Given the description of an element on the screen output the (x, y) to click on. 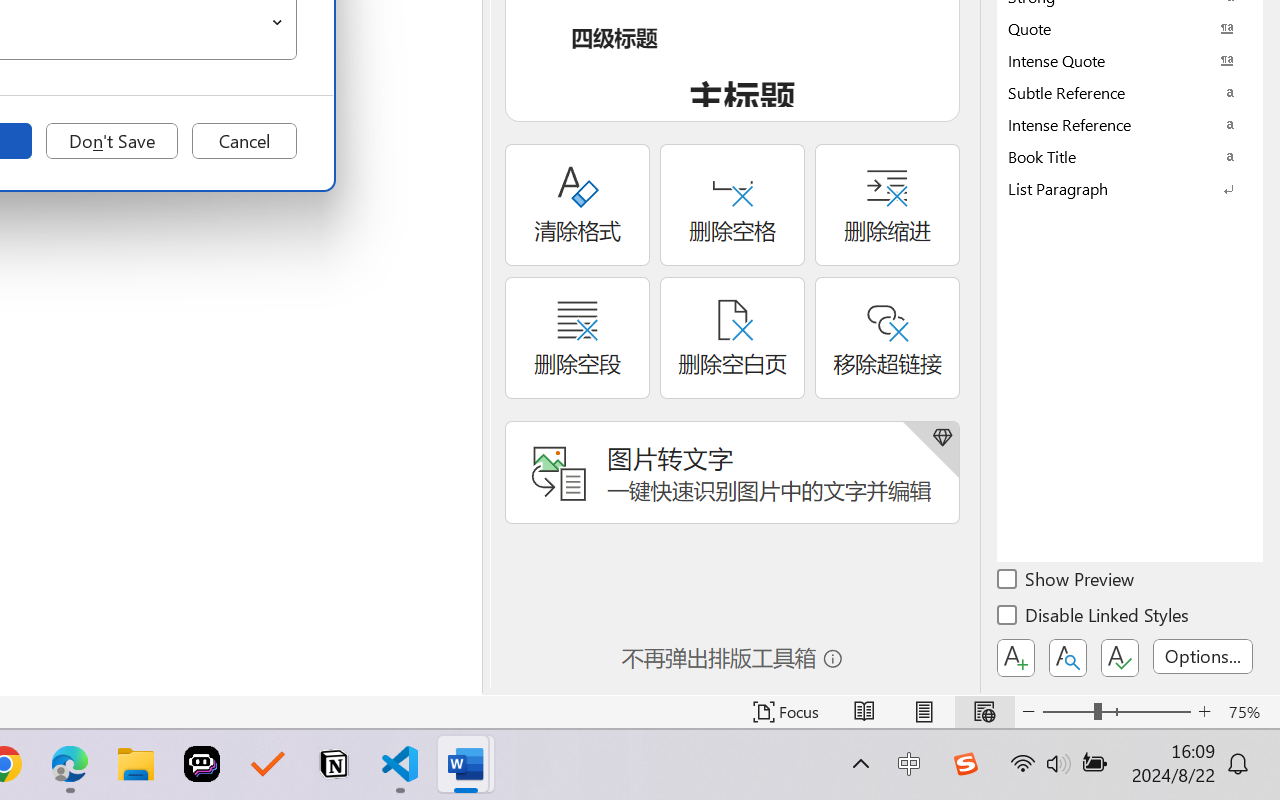
Poe (201, 764)
Web Layout (984, 712)
Zoom Out (1067, 712)
Zoom In (1204, 712)
Print Layout (924, 712)
